Given the description of an element on the screen output the (x, y) to click on. 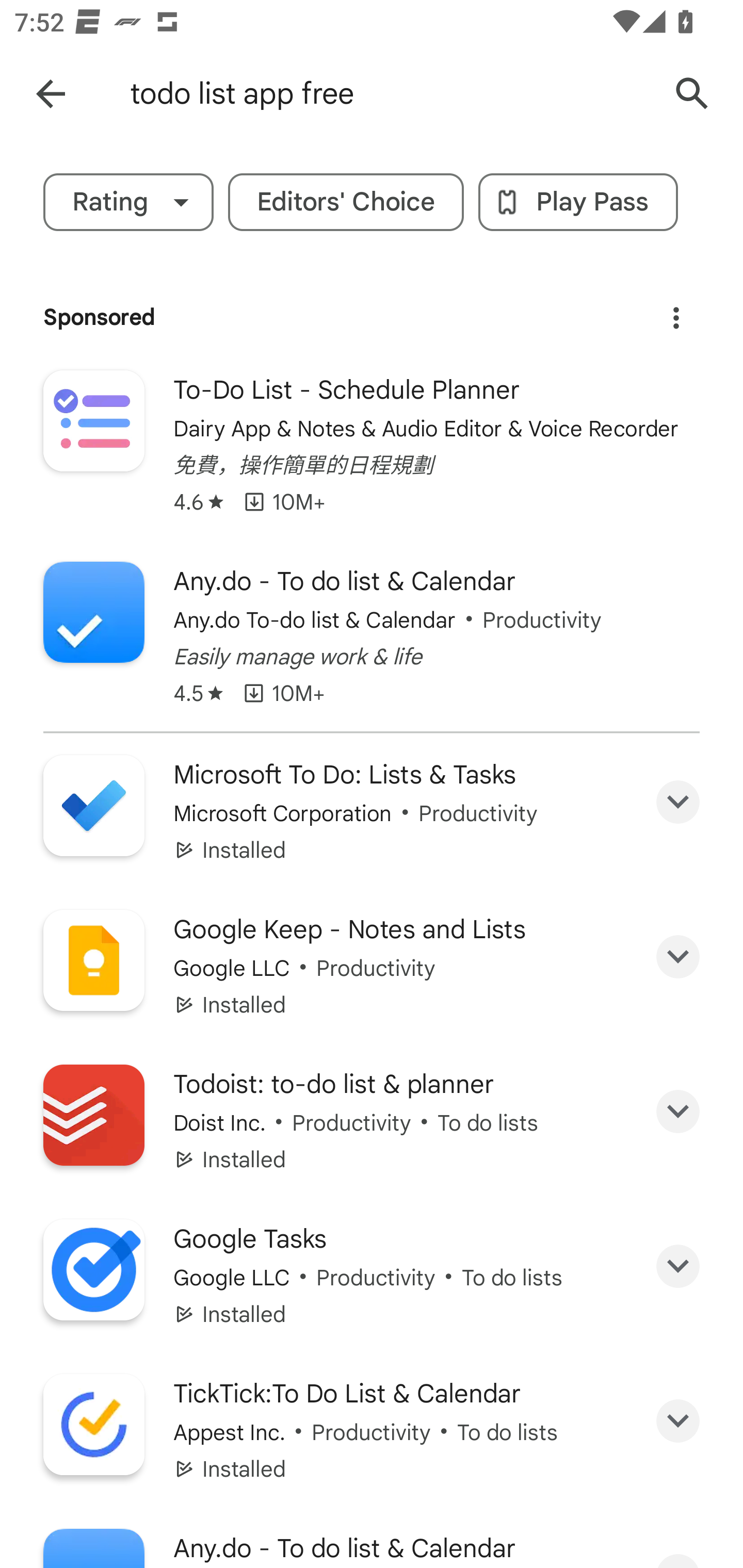
todo list app free (389, 93)
Navigate up (50, 93)
Search Google Play (692, 93)
Rating - double tap to change the filter (128, 202)
Editors' Choice - double tap to toggle the filter (345, 202)
Play Pass - double tap to toggle the filter (577, 202)
About this ad (676, 311)
Expand content for Microsoft To Do: Lists & Tasks (677, 801)
Expand content for Google Keep - Notes and Lists (677, 957)
Expand content for Todoist: to-do list & planner (677, 1111)
Expand content for Google Tasks (677, 1266)
Expand content for TickTick:To Do List & Calendar (677, 1421)
